Given the description of an element on the screen output the (x, y) to click on. 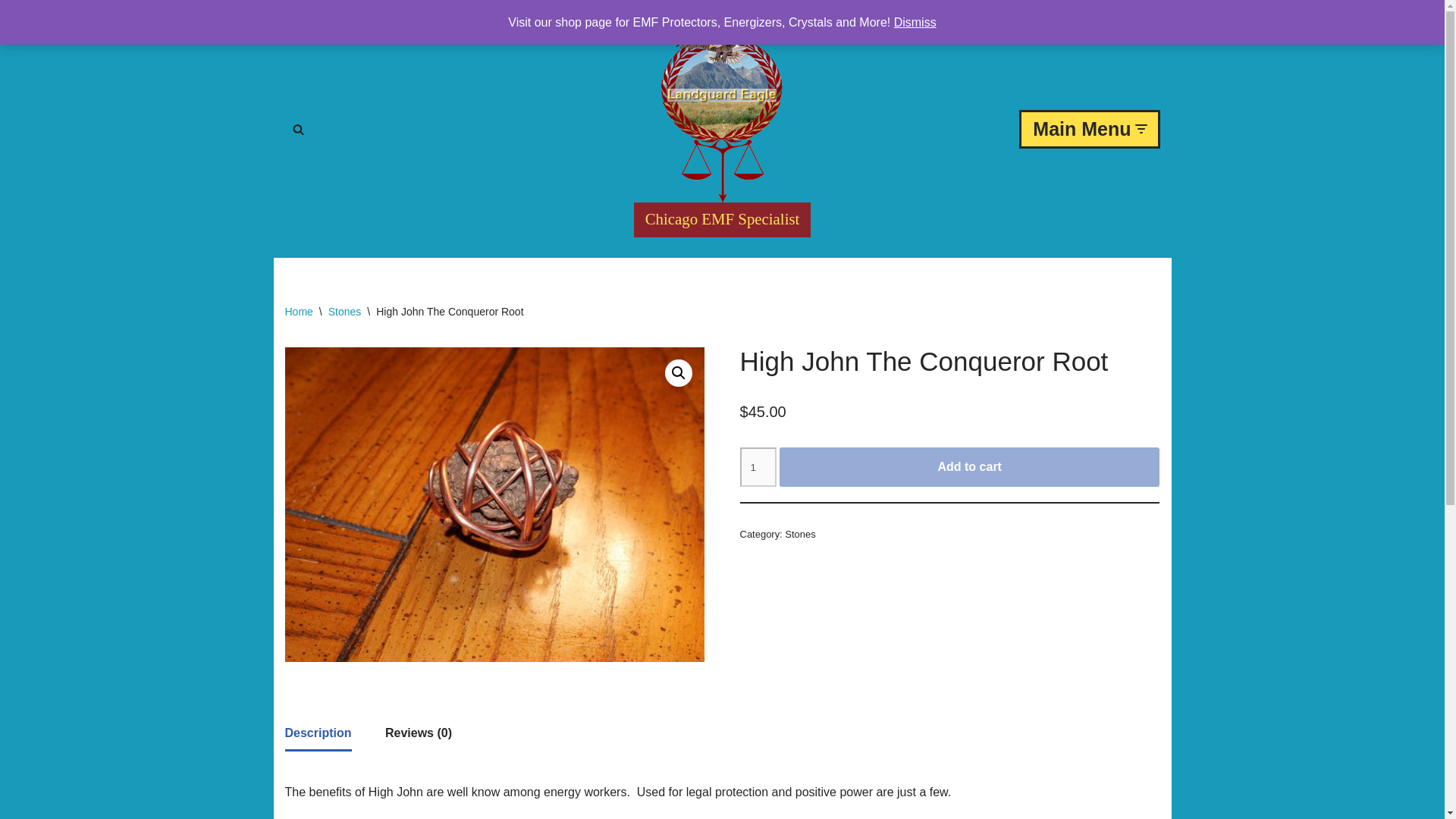
Stones (345, 311)
Skip to content (11, 31)
HIGH JOHN THE CONQUEROR ROOT (494, 504)
1 (757, 466)
Description (318, 732)
Stones (799, 533)
Add to cart (969, 466)
Home (299, 311)
Main Menu (1088, 128)
